Given the description of an element on the screen output the (x, y) to click on. 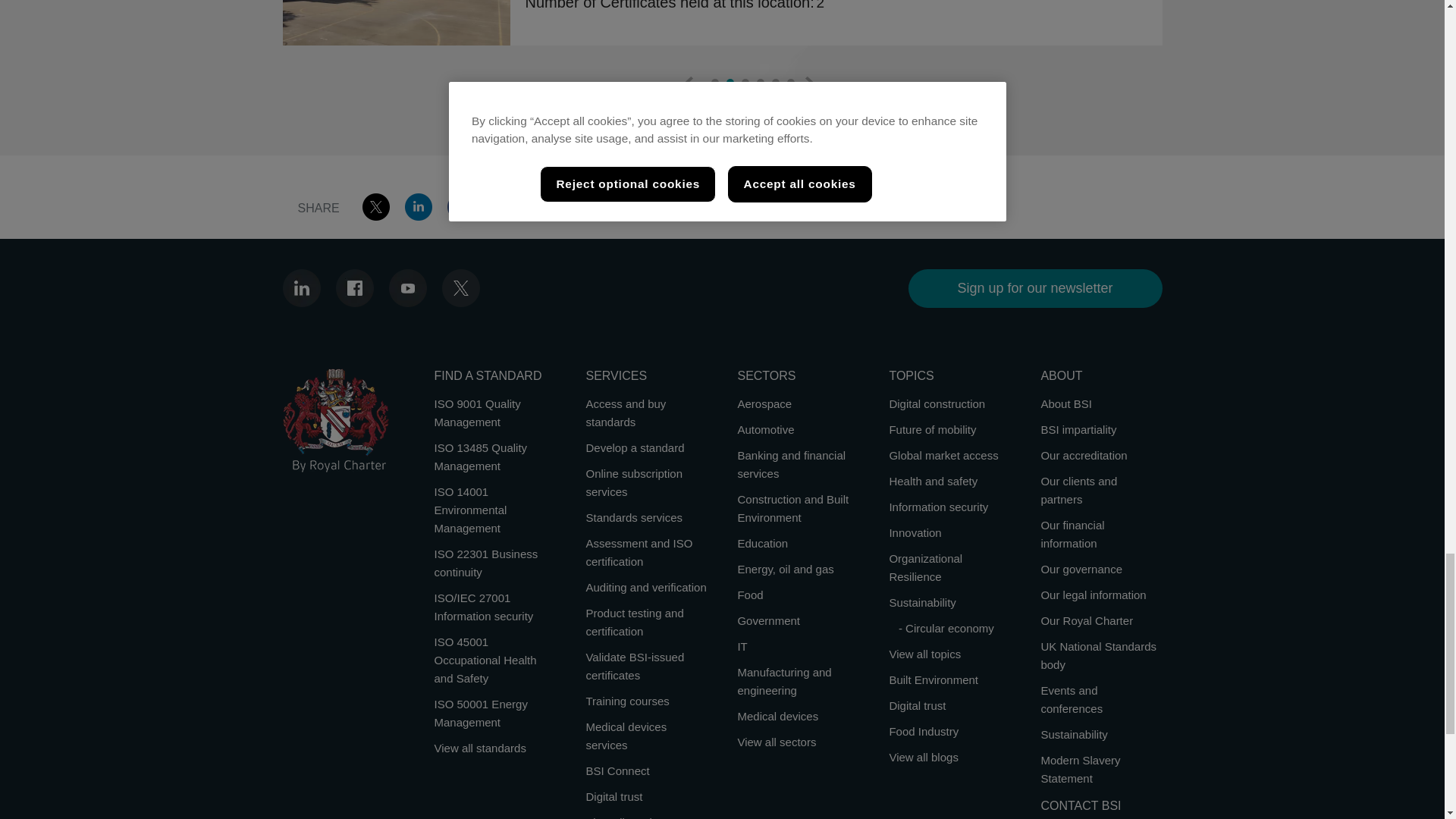
Sign up for our newsletter (1034, 288)
Number of Certificates held at this location: (668, 5)
